Given the description of an element on the screen output the (x, y) to click on. 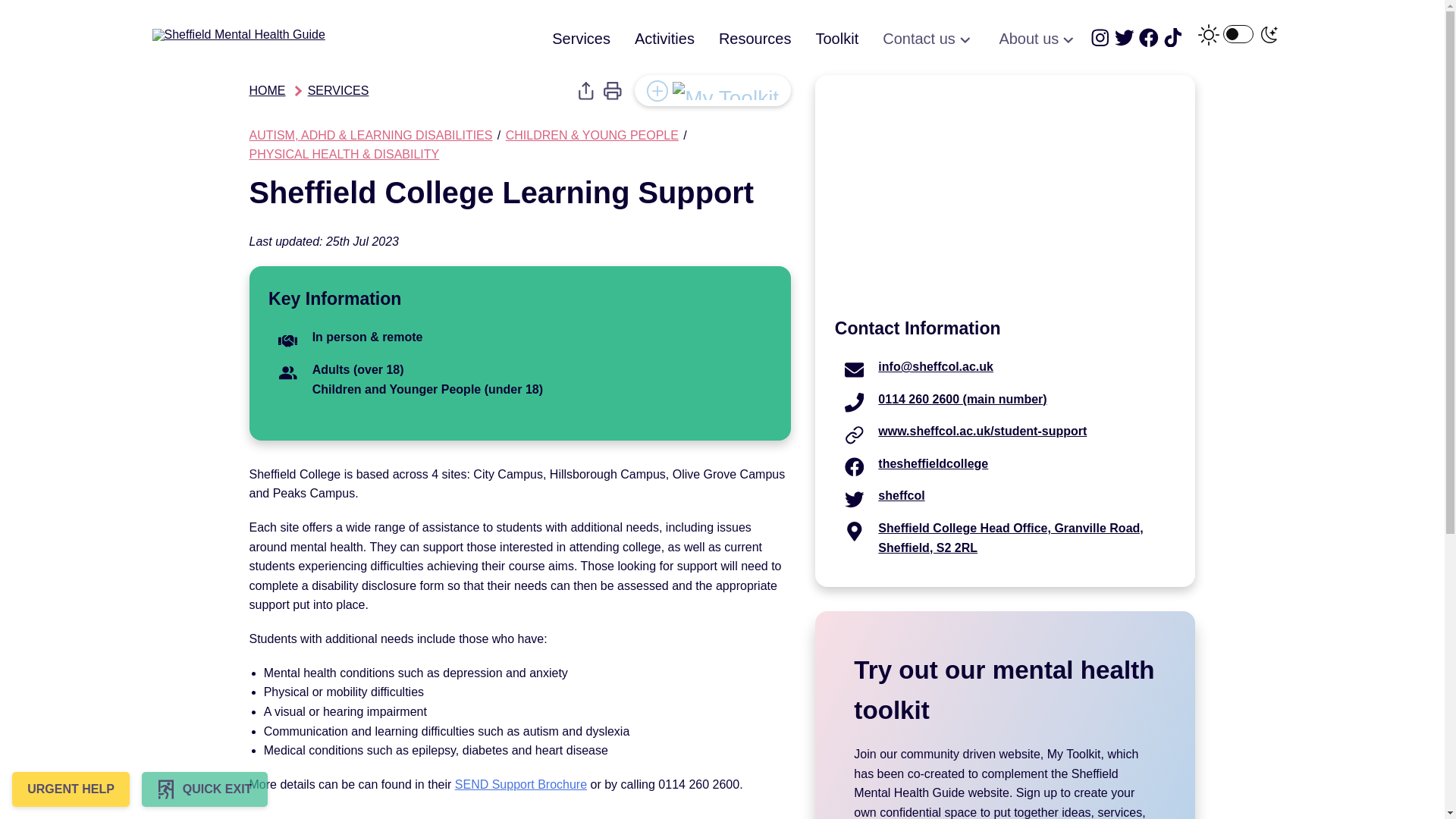
SEND Support Brochure (520, 784)
Contact us (928, 39)
Add to (712, 90)
Resources (755, 38)
URGENT HELP (70, 789)
SERVICES (338, 90)
sheffcol (900, 495)
Toolkit (837, 38)
Print this page (612, 90)
Share this page (585, 90)
About us (1038, 39)
thesheffieldcollege (932, 463)
QUICK EXIT (204, 789)
Services (580, 38)
